Given the description of an element on the screen output the (x, y) to click on. 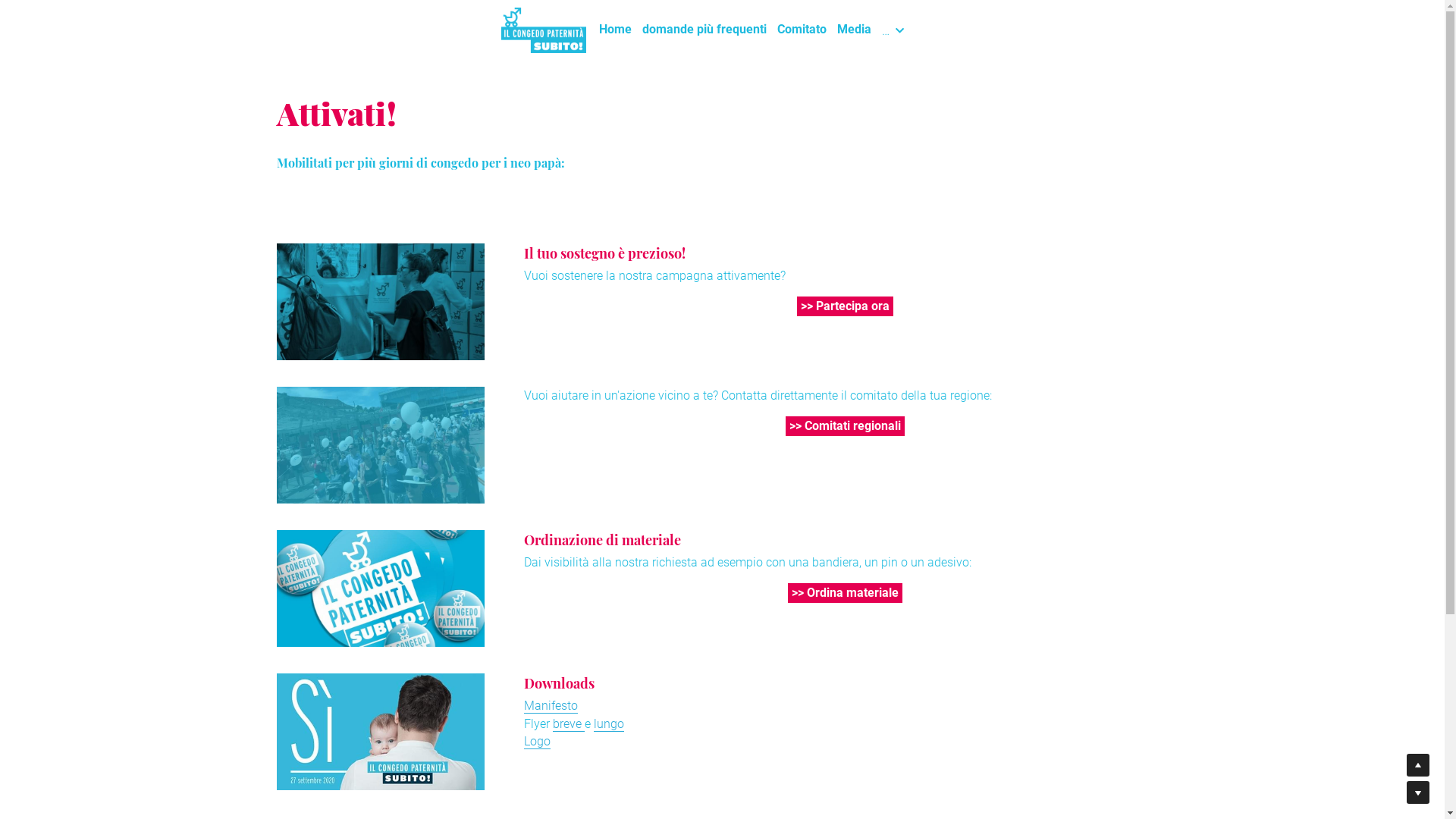
Comitato Element type: text (806, 28)
Logo Element type: text (537, 741)
breve  Element type: text (568, 723)
The Papas - Papa Urlaub Element type: text (591, 758)
Manifesto Element type: text (550, 705)
Media Element type: text (858, 28)
>> Partecipa ora Element type: text (845, 306)
>> Comitati regionali Element type: text (844, 426)
Home Element type: text (619, 28)
>> Ordina materiale Element type: text (844, 592)
lungo Element type: text (608, 723)
